Given the description of an element on the screen output the (x, y) to click on. 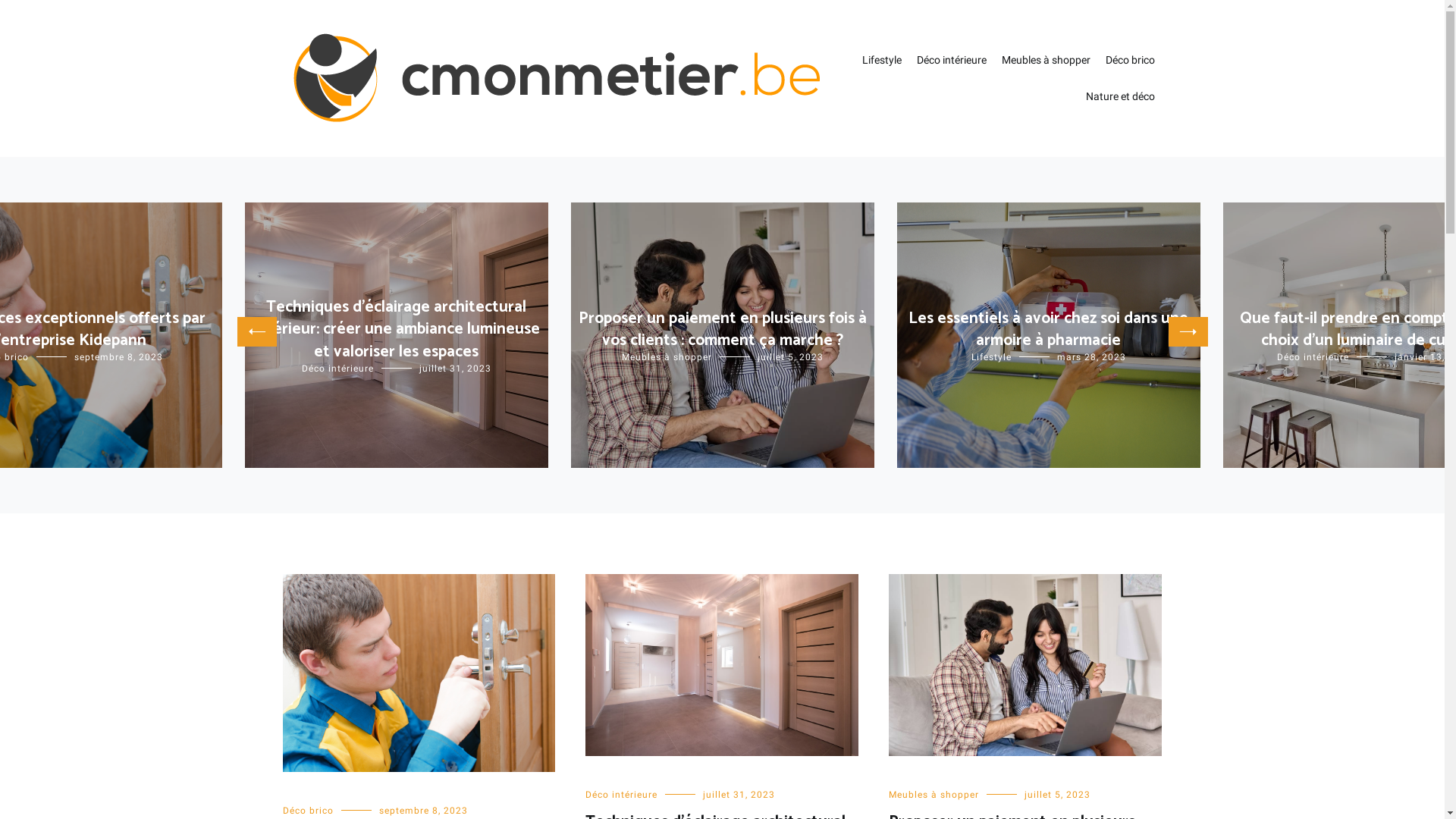
juillet 5, 2023 Element type: text (789, 356)
juillet 31, 2023 Element type: text (454, 368)
Rechercher Element type: text (56, 16)
Lifestyle Element type: text (880, 60)
Lifestyle Element type: text (990, 356)
juillet 5, 2023 Element type: text (1057, 794)
septembre 8, 2023 Element type: text (423, 810)
septembre 8, 2023 Element type: text (118, 356)
juillet 31, 2023 Element type: text (738, 794)
mars 28, 2023 Element type: text (1091, 356)
